Given the description of an element on the screen output the (x, y) to click on. 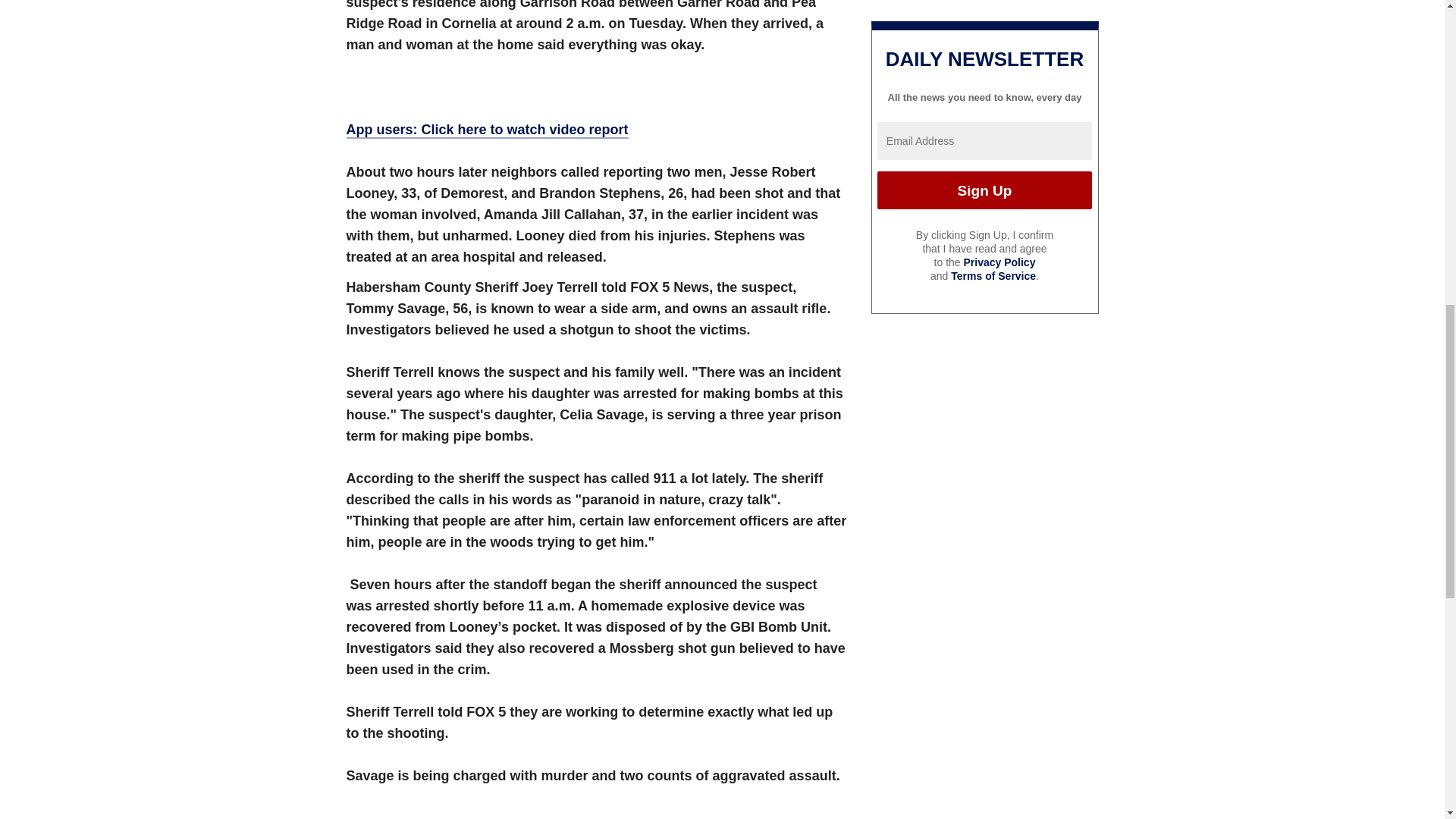
Sign Up (984, 190)
